Given the description of an element on the screen output the (x, y) to click on. 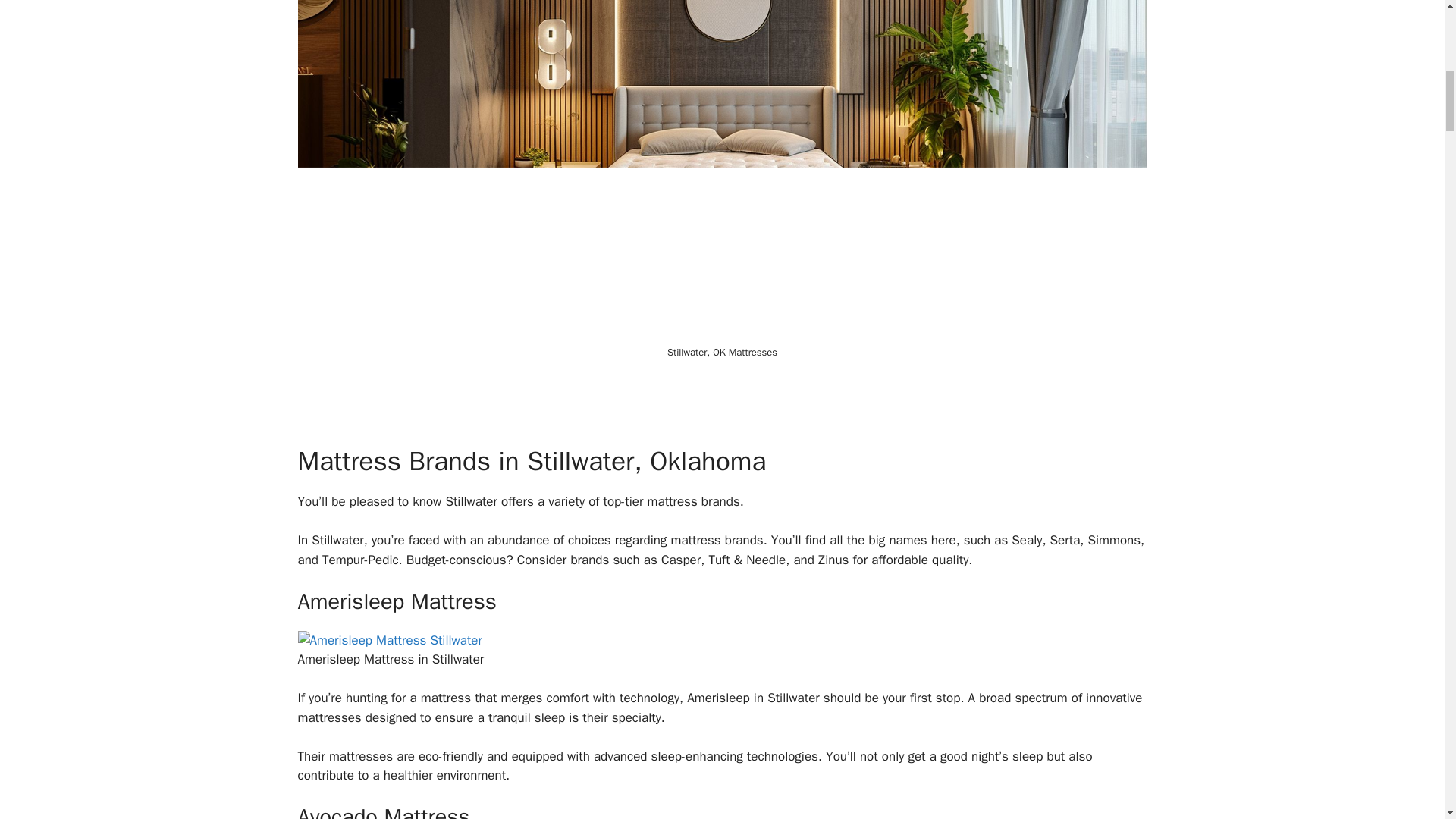
Amerisleep Mattress Stillwater (389, 640)
